Given the description of an element on the screen output the (x, y) to click on. 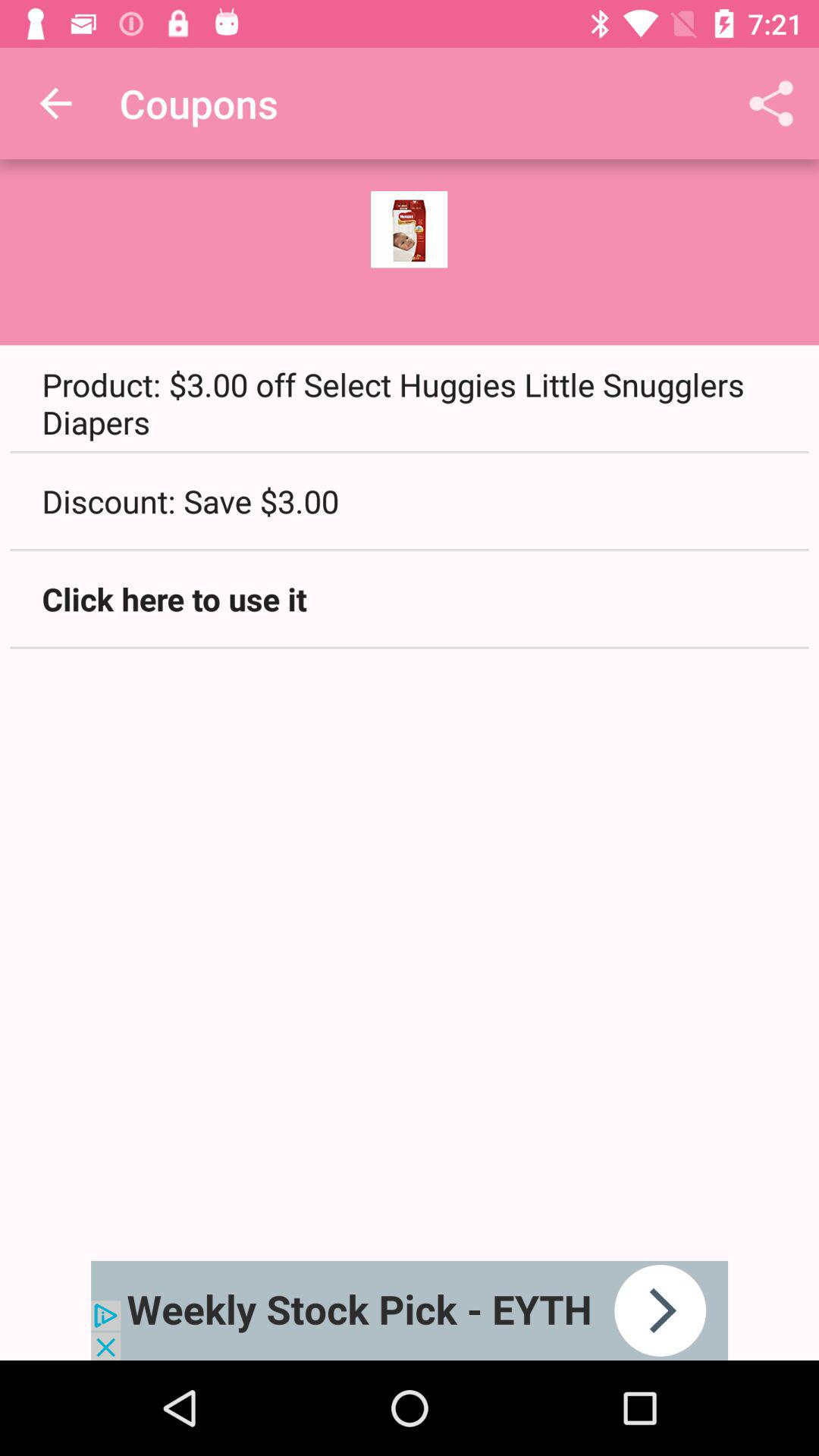
go to the advertisement (409, 1310)
